Given the description of an element on the screen output the (x, y) to click on. 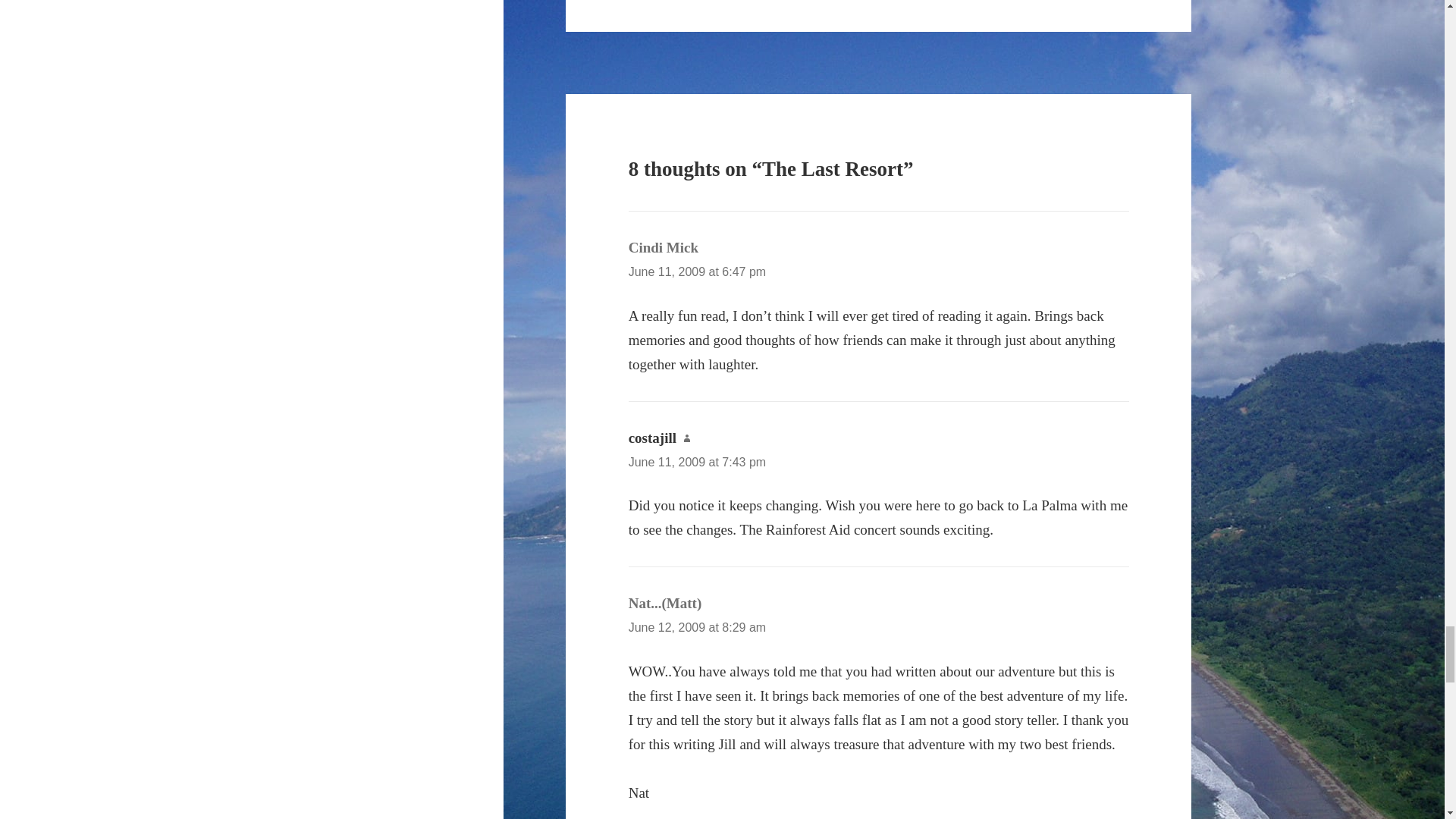
June 11, 2009 at 6:47 pm (696, 271)
costajill (652, 437)
June 12, 2009 at 8:29 am (696, 626)
June 11, 2009 at 7:43 pm (696, 461)
